Given the description of an element on the screen output the (x, y) to click on. 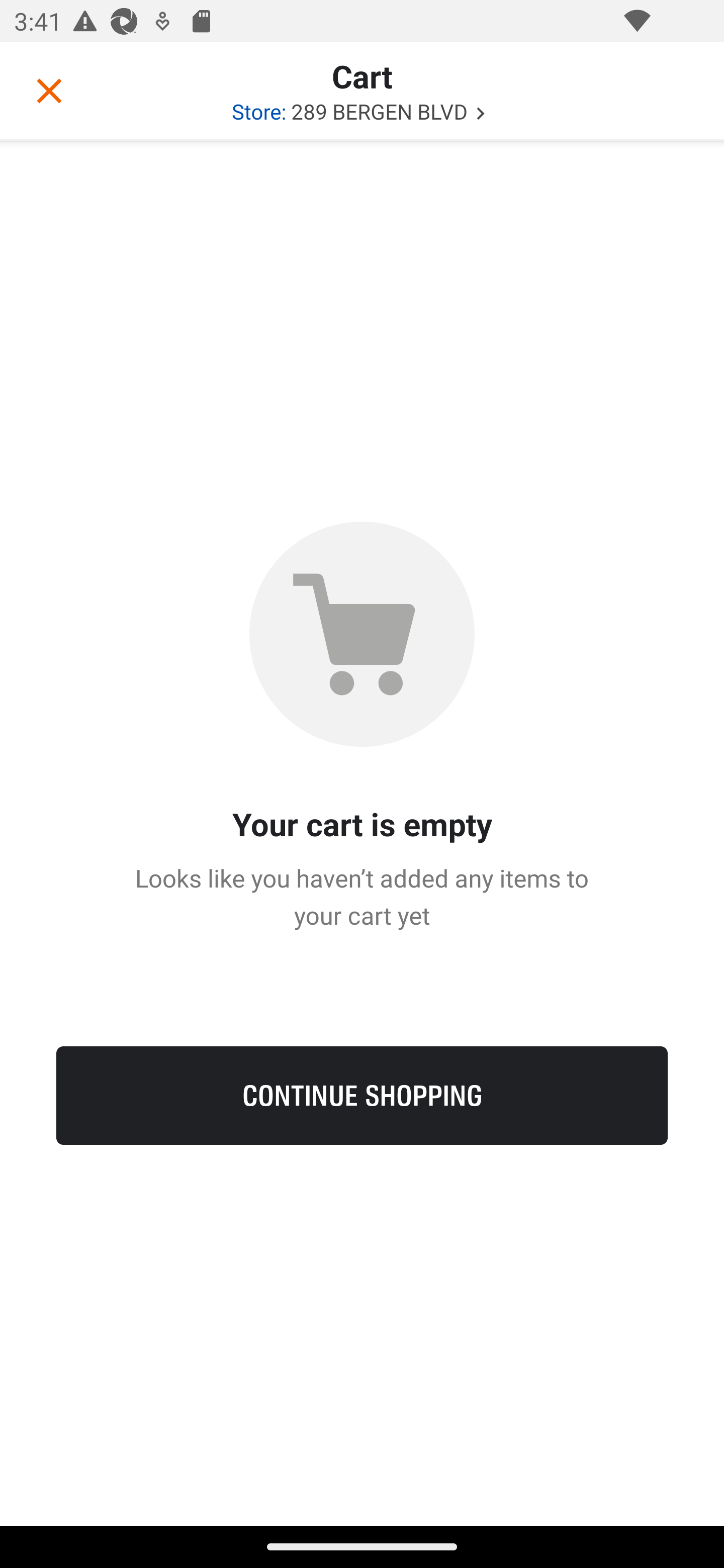
Close cart  (49, 89)
289 BERGEN BLVD Store: 289 BERGEN BLVD  (361, 111)
CONTINUE SHOPPING (361, 1094)
